Given the description of an element on the screen output the (x, y) to click on. 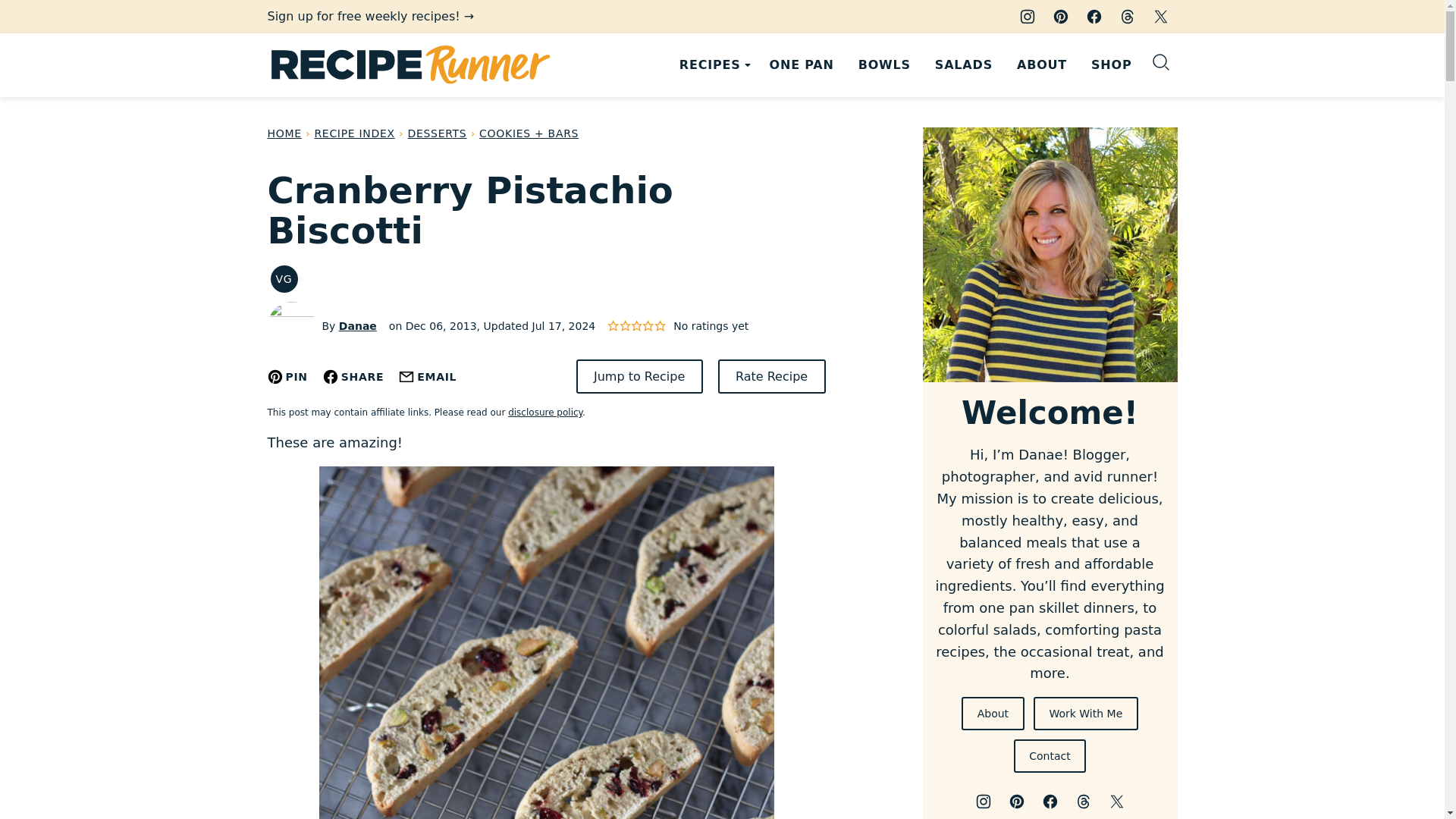
Vegetarian (282, 278)
Share on Facebook (353, 376)
Share via Email (427, 376)
RECIPES (711, 64)
Share on Pinterest (286, 376)
